Given the description of an element on the screen output the (x, y) to click on. 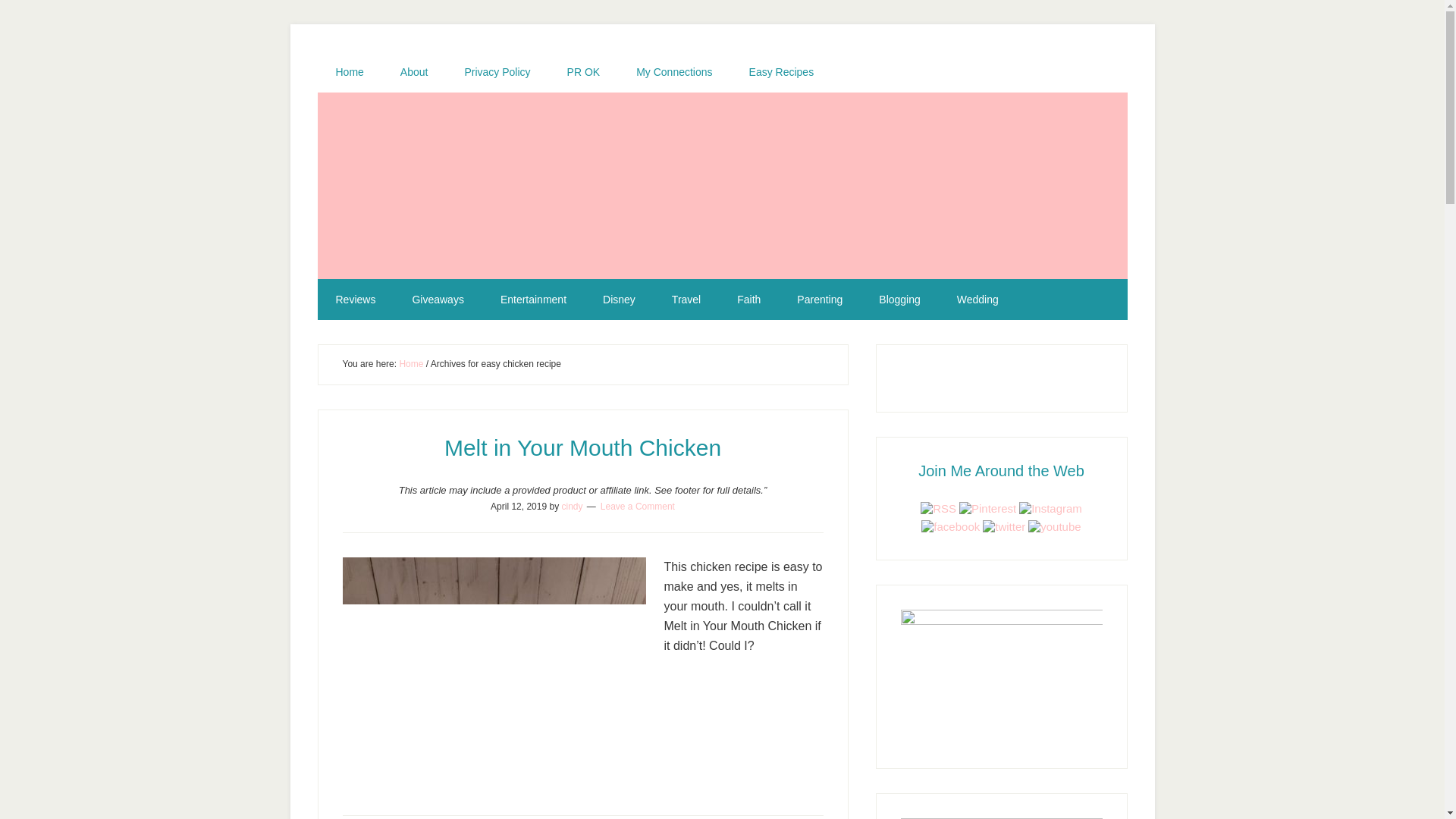
Home (410, 363)
Blogging (899, 299)
Faith (748, 299)
RSS (938, 508)
Parenting (819, 299)
Wedding (977, 299)
Reviews (355, 299)
Entertainment (533, 299)
cindy (571, 505)
Easy Recipes (781, 71)
Home (349, 71)
Leave a Comment (637, 505)
Privacy Policy (496, 71)
The Mom Maven (721, 185)
Melt in Your Mouth Chicken (582, 447)
